Given the description of an element on the screen output the (x, y) to click on. 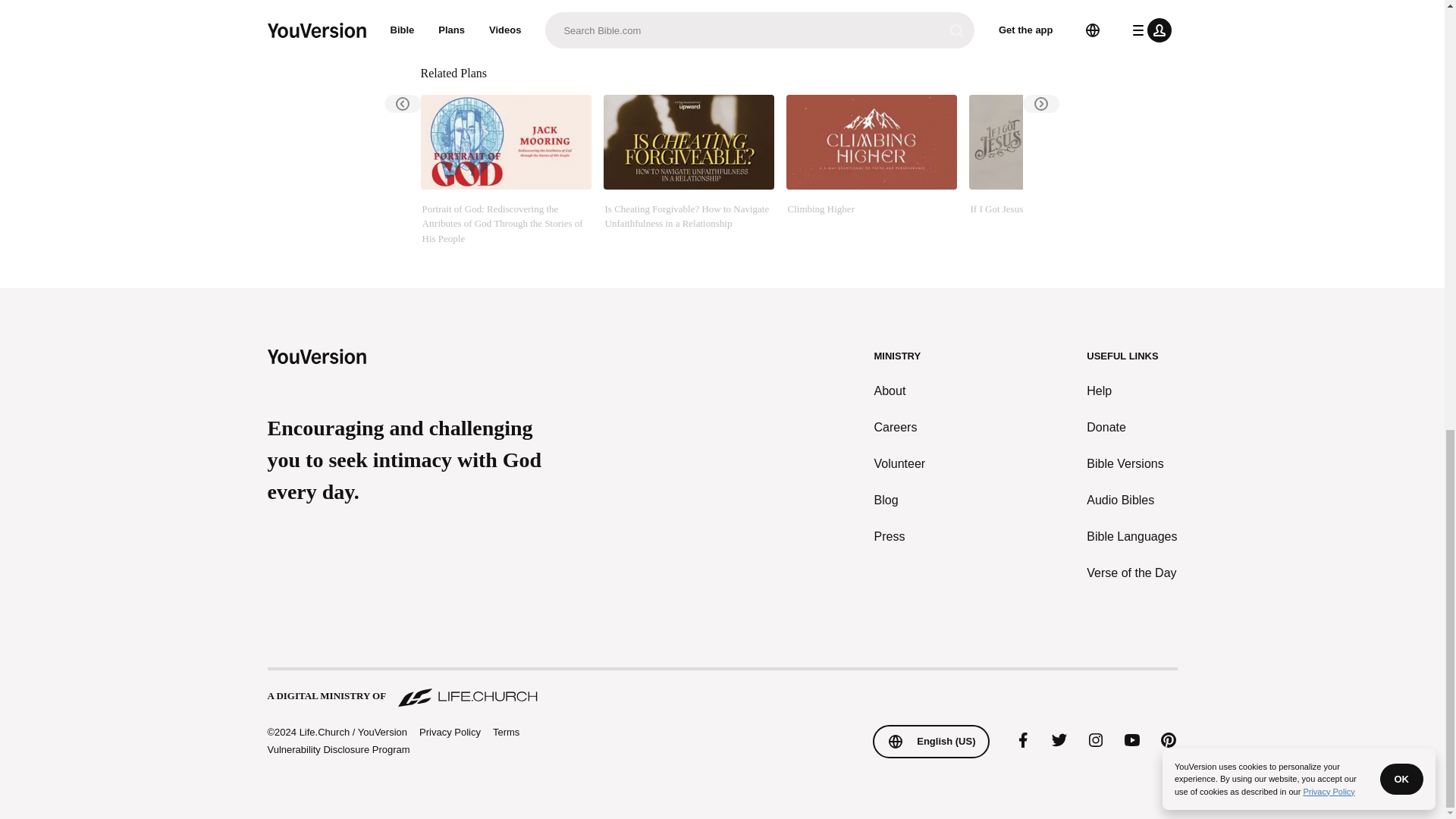
Careers (900, 427)
Volunteer (900, 464)
Press (900, 536)
Bible Versions (1131, 464)
Donate (1131, 427)
Audio Bibles (1131, 500)
Help (1131, 391)
Bible Languages (1131, 536)
About The Publisher (514, 17)
Terms (506, 731)
Vulnerability Disclosure Program (337, 749)
Verse of the Day (1131, 573)
A DIGITAL MINISTRY OF (721, 688)
About (900, 391)
